Given the description of an element on the screen output the (x, y) to click on. 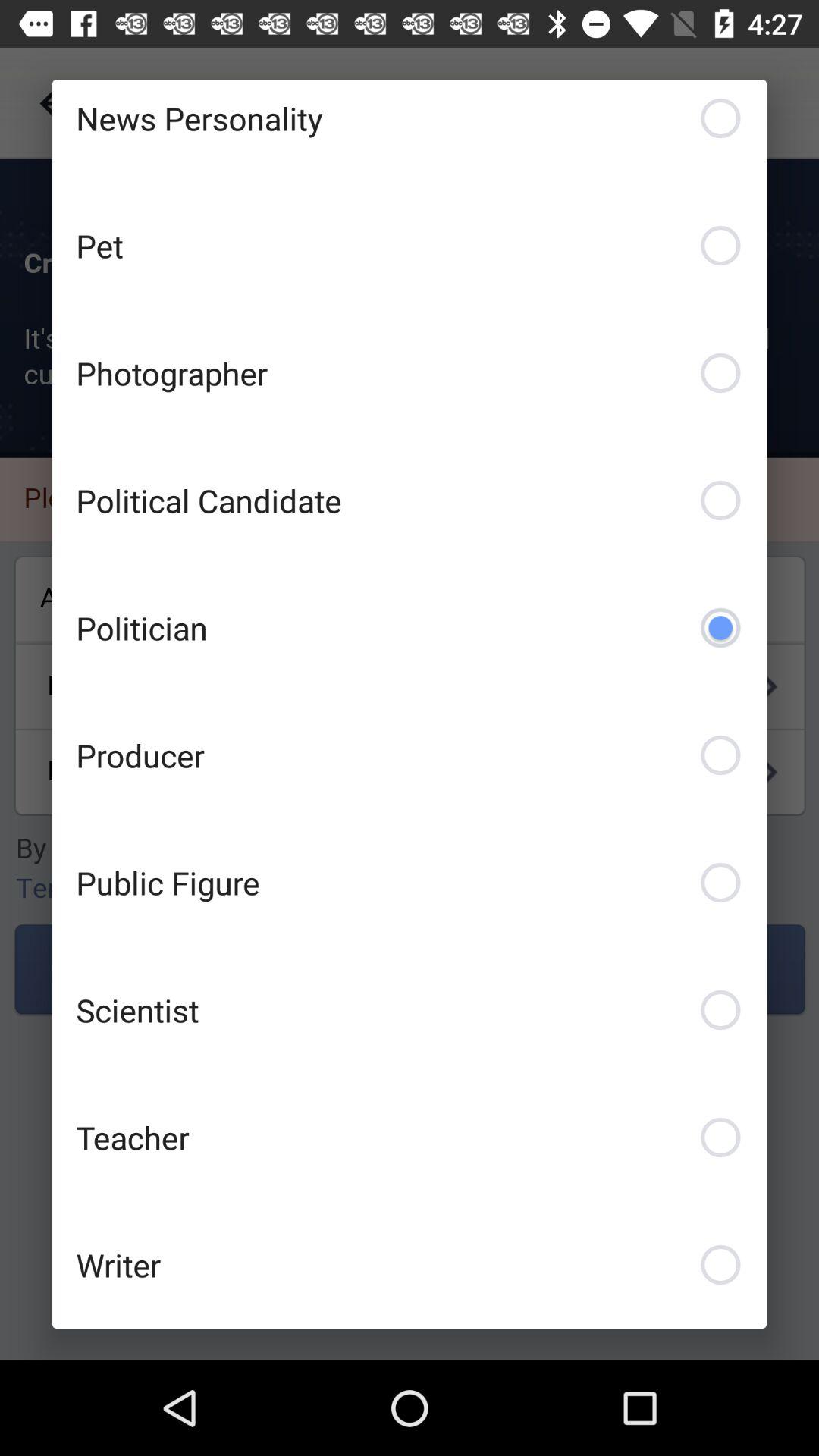
choose the producer item (409, 755)
